Given the description of an element on the screen output the (x, y) to click on. 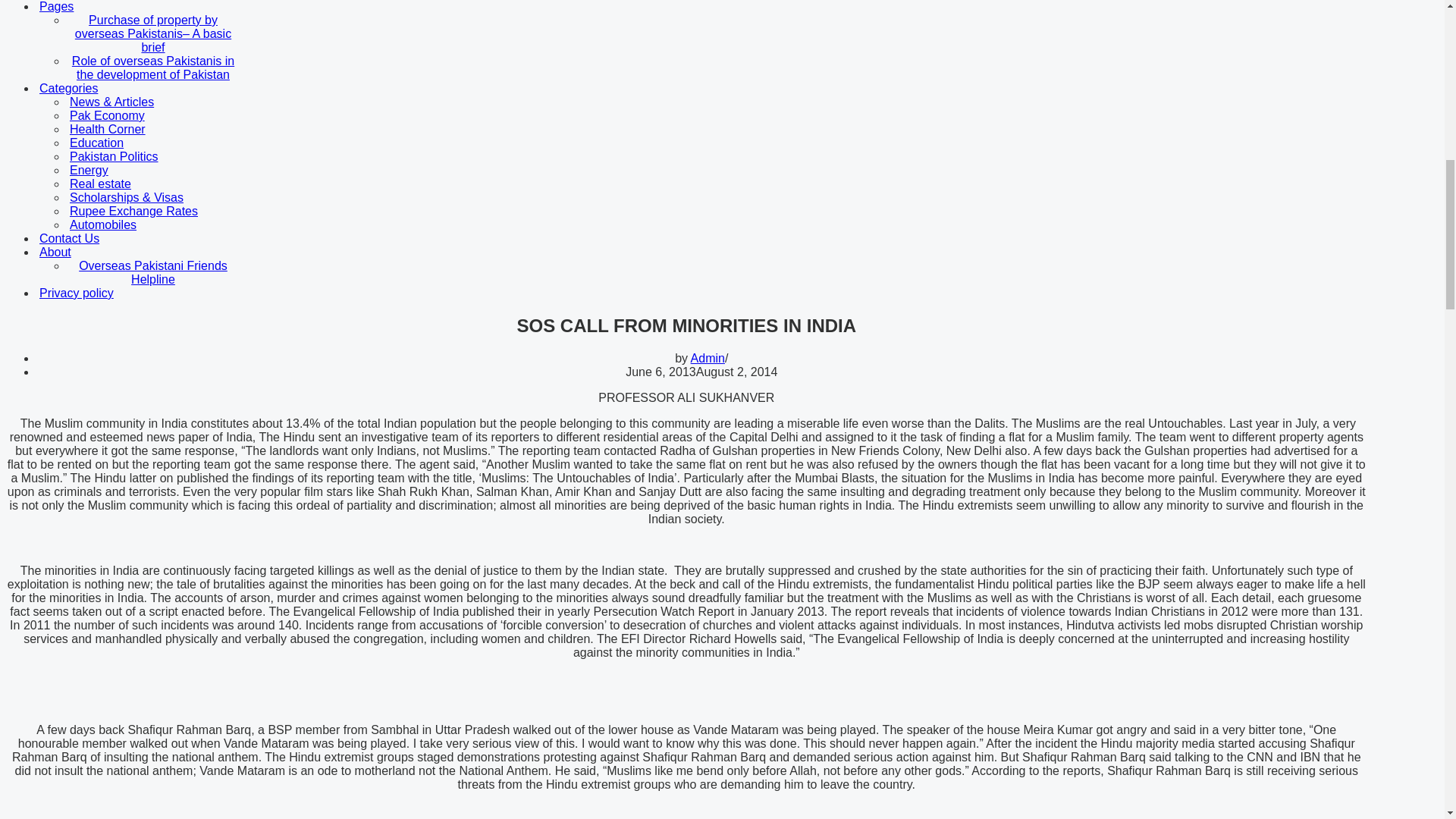
Rupee Exchange Rates (172, 211)
Pak Economy (172, 115)
Energy (172, 170)
Categories (170, 88)
Posts by Admin (707, 358)
Role of overseas Pakistanis in the development of Pakistan (172, 67)
Pages (170, 6)
Pakistan Politics (172, 156)
Health Corner (172, 129)
Real estate (172, 183)
Education (172, 142)
